Given the description of an element on the screen output the (x, y) to click on. 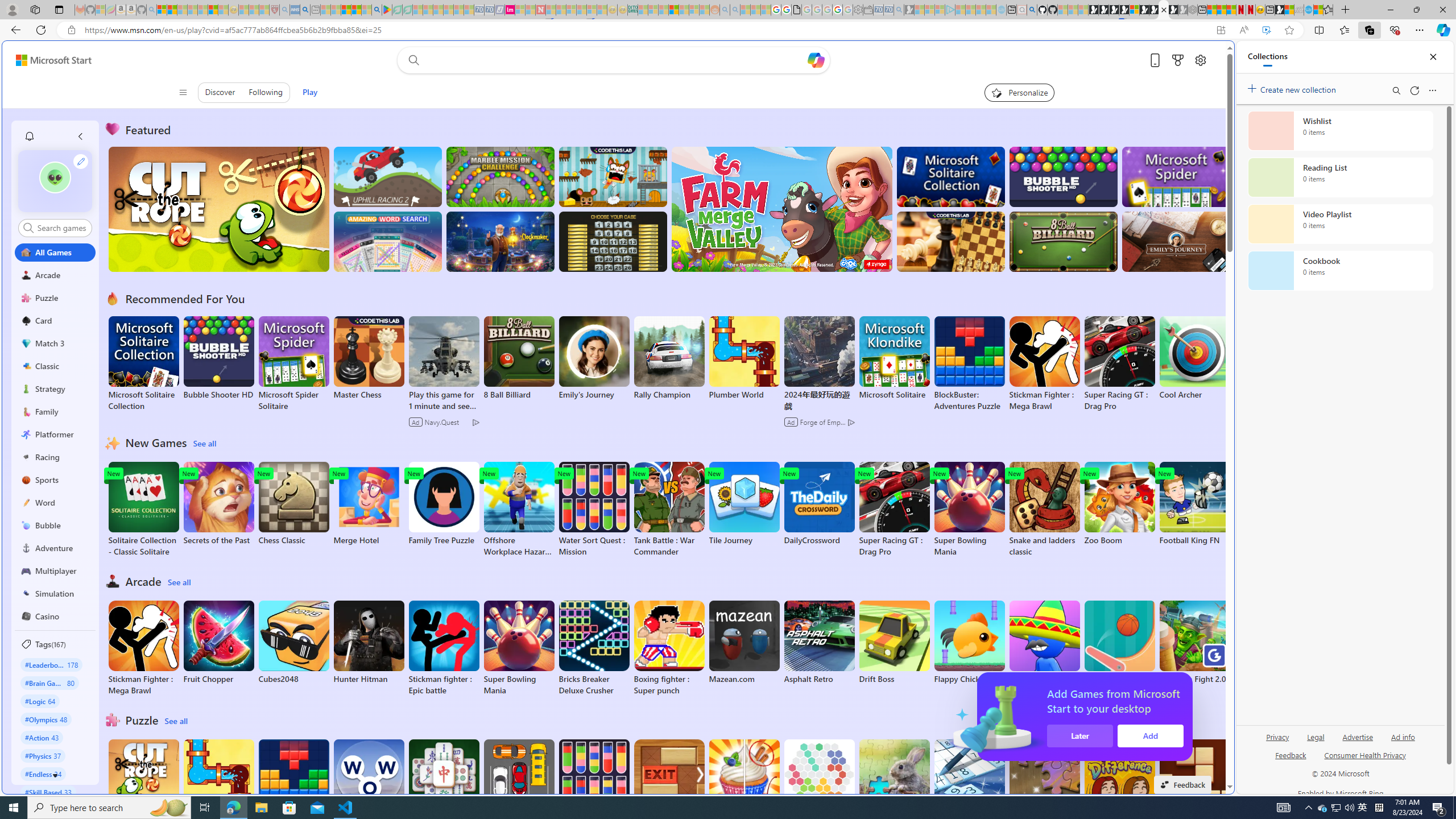
Kinda Frugal - MSN - Sleeping (684, 9)
Class: arrow-bottom button-default-style-remove (55, 775)
Microsoft Solitaire (894, 358)
Class: control icon-only (182, 92)
Class: notification-item (28, 136)
More options menu (1432, 90)
